Given the description of an element on the screen output the (x, y) to click on. 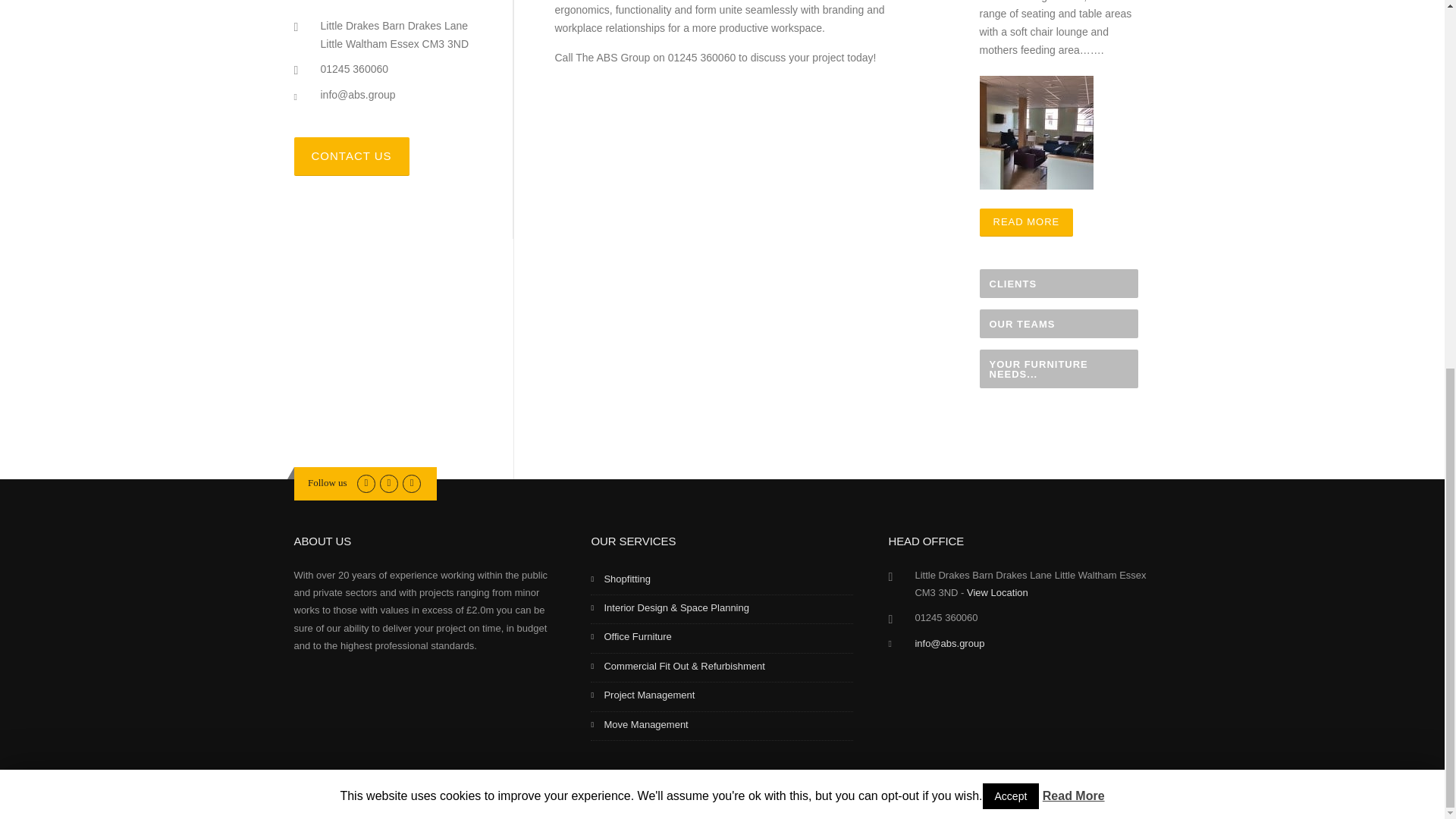
Facebook (388, 482)
Linkedin (411, 482)
OUR TEAMS (1058, 323)
YOUR FURNITURE NEEDS... (1058, 368)
CLIENTS (1058, 283)
READ MORE (1026, 222)
Twitter (365, 482)
